Given the description of an element on the screen output the (x, y) to click on. 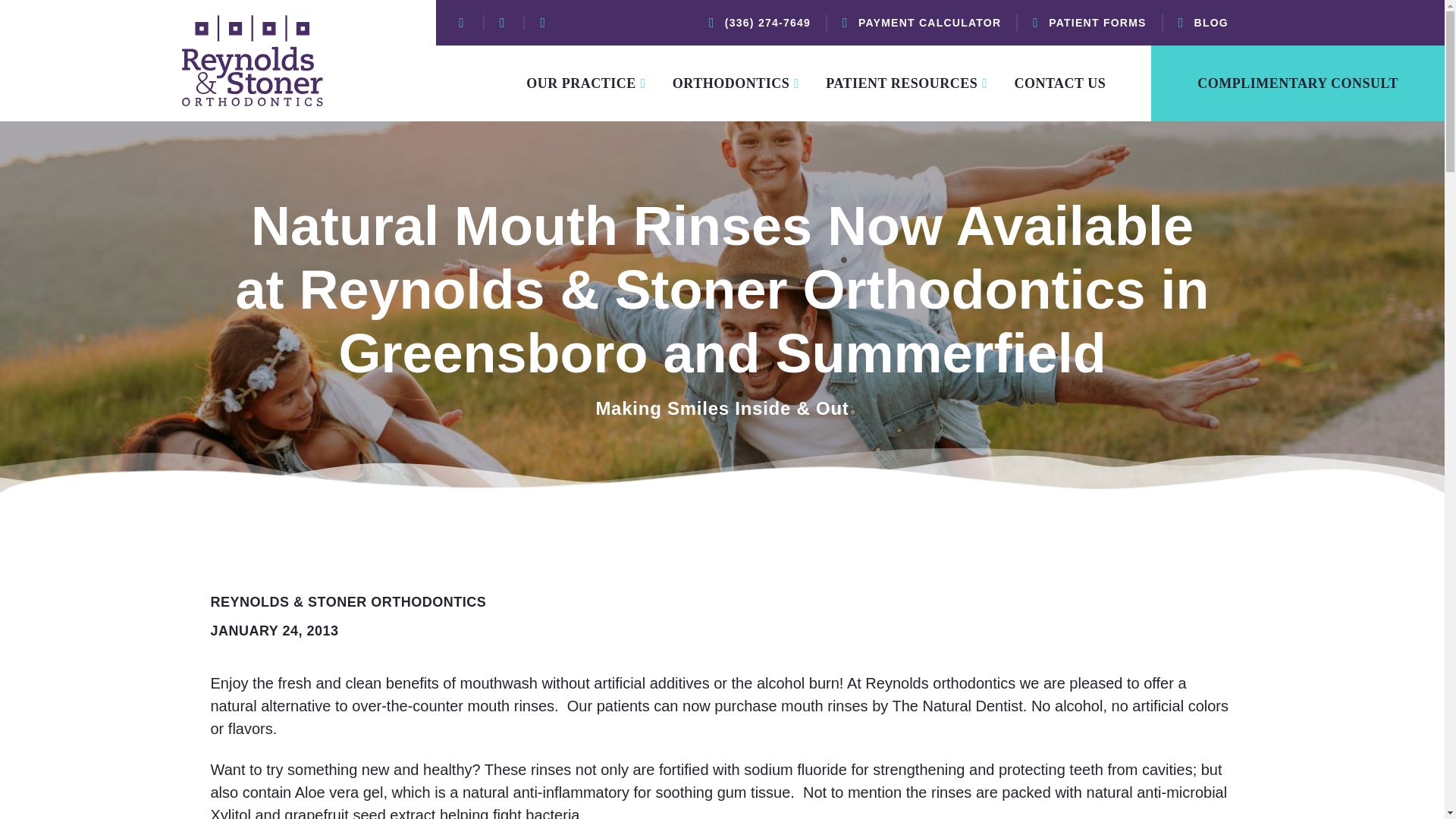
PATIENT FORMS (1088, 22)
PAYMENT CALCULATOR (922, 22)
PATIENT RESOURCES (919, 83)
BLOG (1202, 22)
OUR PRACTICE (598, 83)
ORTHODONTICS (748, 83)
